Given the description of an element on the screen output the (x, y) to click on. 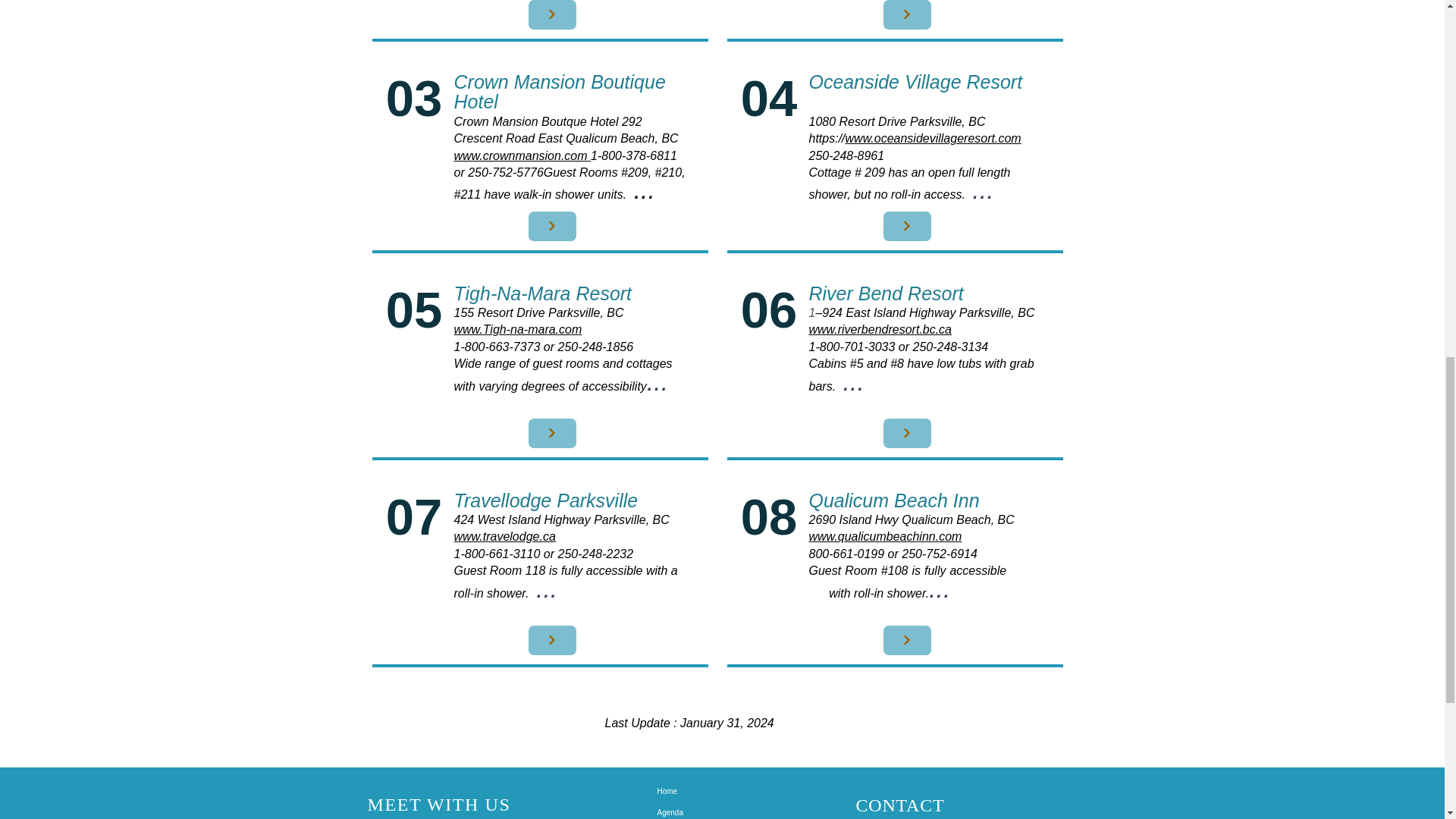
www.oceansidevillageresort.com (933, 137)
www.Tigh-na-mara.com (516, 328)
www.qualicumbeachinn.com (884, 535)
Agenda (709, 810)
www.travelodge.ca (503, 535)
Home (709, 791)
www.riverbendresort.bc.ca (880, 328)
www.crownmansion.com (521, 155)
